Given the description of an element on the screen output the (x, y) to click on. 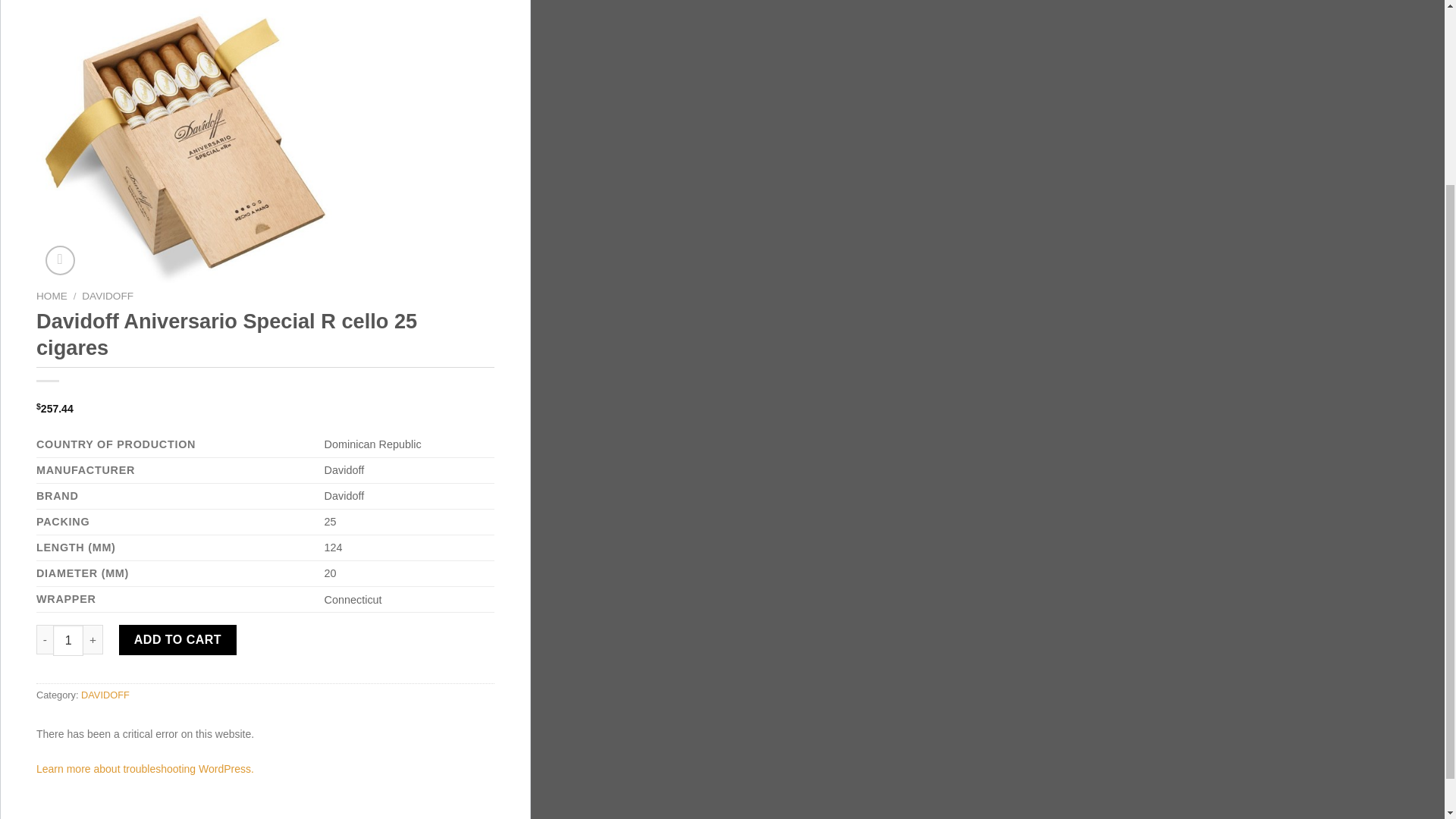
1 (67, 639)
DAVIDOFF (107, 296)
ADD TO CART (178, 639)
Learn more about troubleshooting WordPress. (144, 768)
Zoom (60, 260)
HOME (51, 296)
- (44, 639)
DAVIDOFF (105, 695)
